Given the description of an element on the screen output the (x, y) to click on. 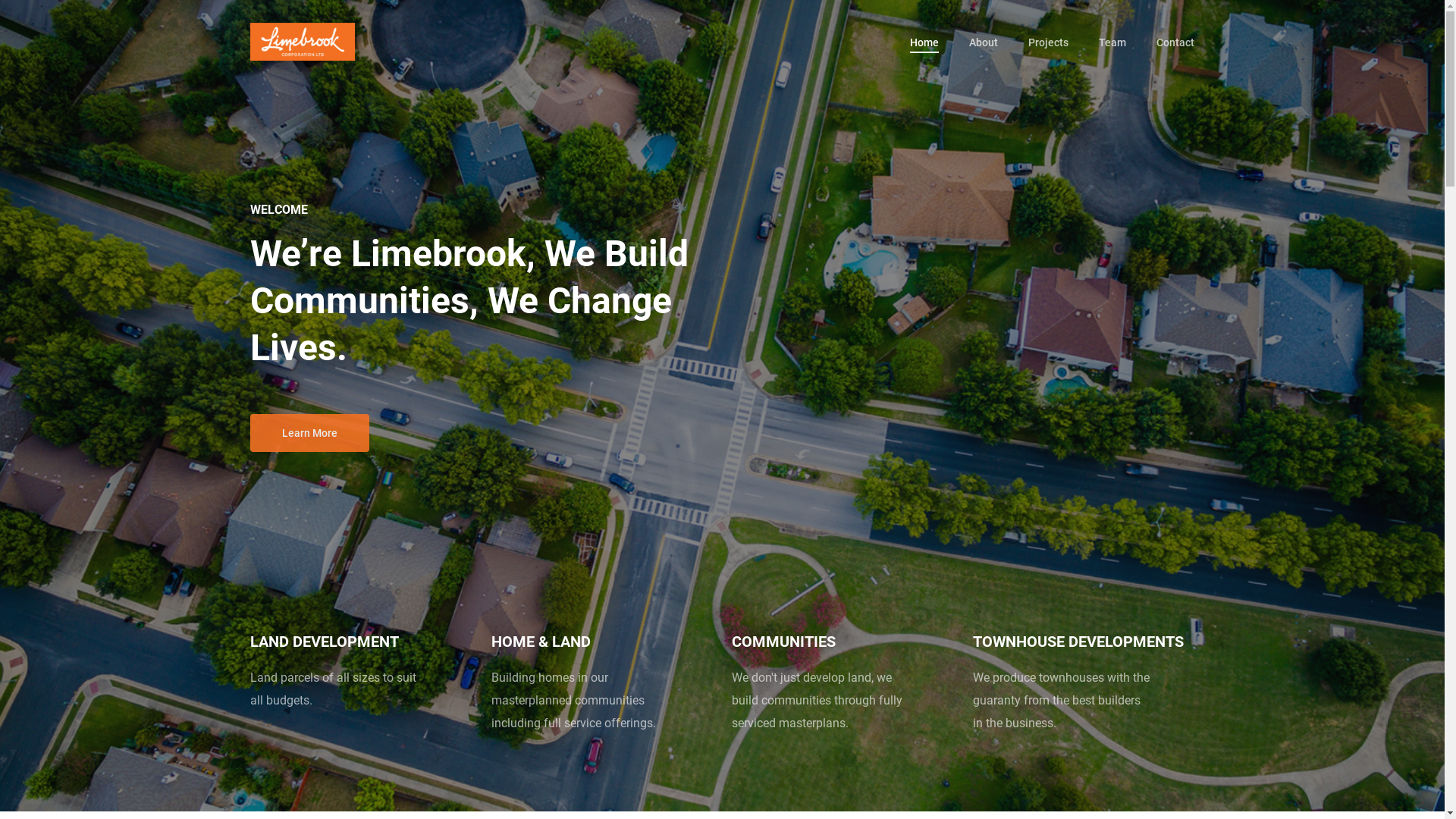
Contact Element type: text (1175, 41)
Team Element type: text (1112, 41)
About Element type: text (983, 41)
Projects Element type: text (1048, 41)
Home Element type: text (924, 41)
Learn More Element type: text (309, 432)
